Given the description of an element on the screen output the (x, y) to click on. 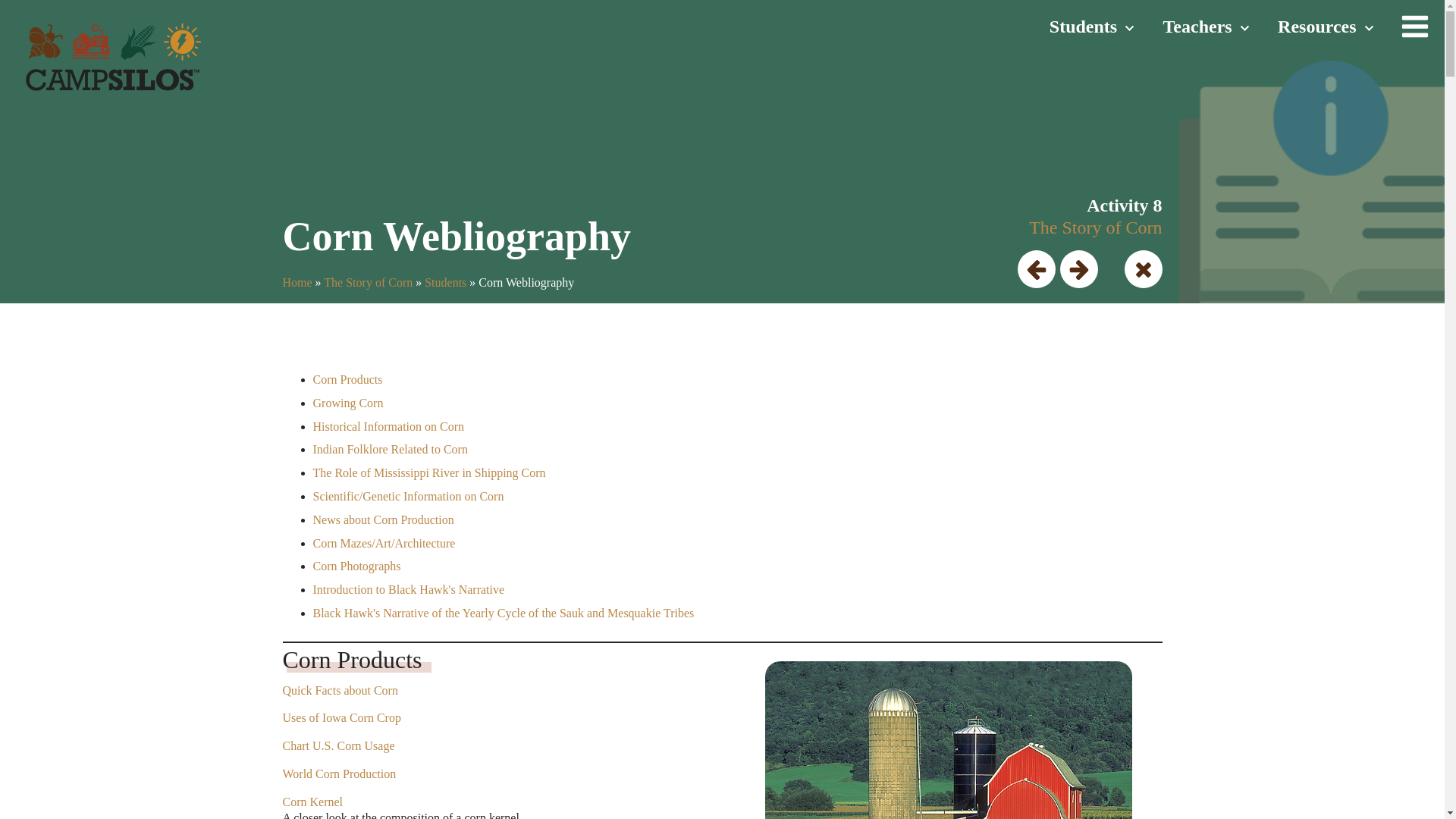
Teachers (1205, 27)
Resources (1324, 27)
Students (1090, 27)
The Story of Corn (367, 282)
Students (445, 282)
Home (296, 282)
